Given the description of an element on the screen output the (x, y) to click on. 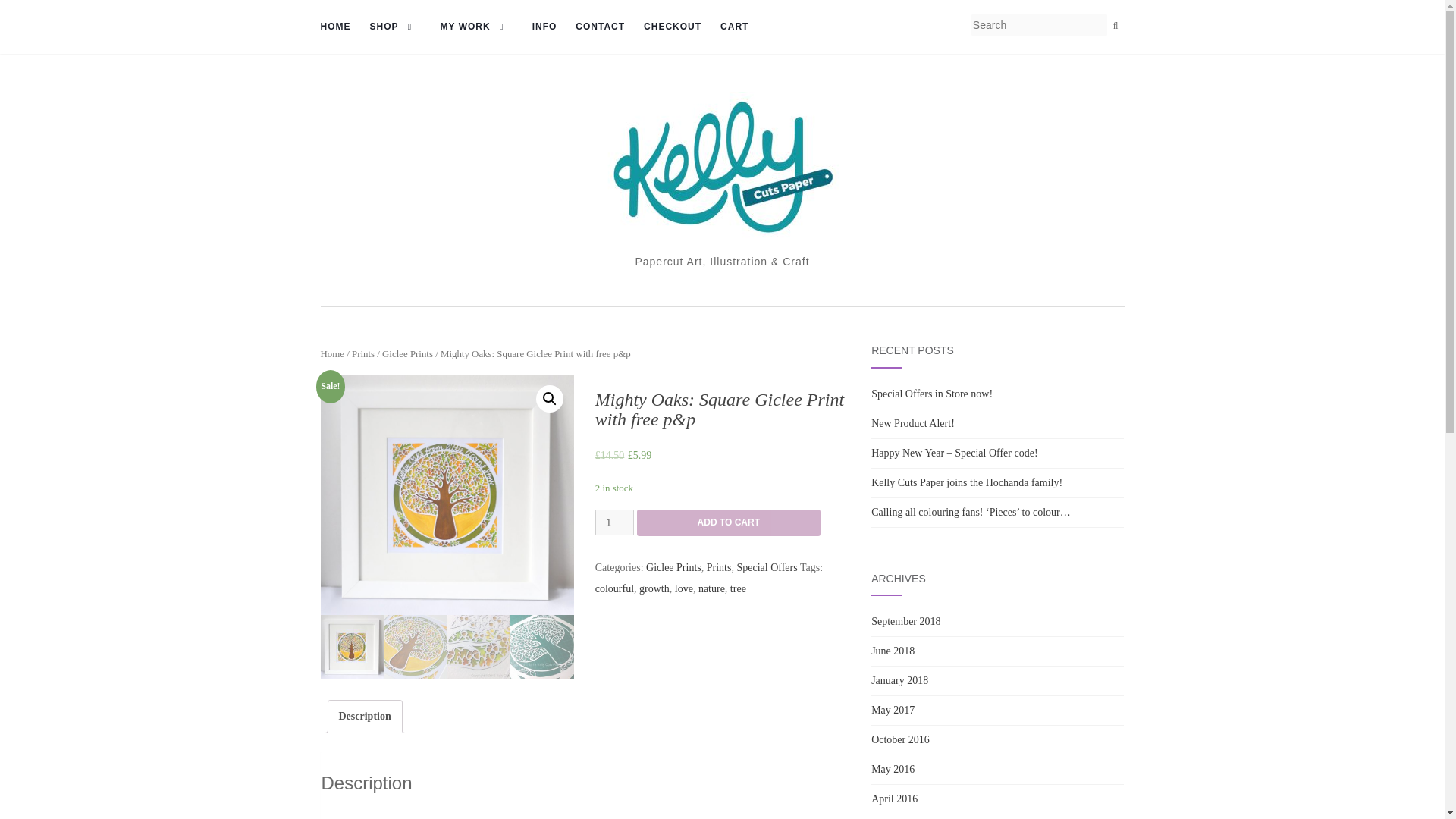
Shop (395, 27)
SHOP (395, 27)
Prints (363, 353)
1 (614, 522)
CONTACT (599, 27)
CHECKOUT (672, 27)
Giclee Prints (406, 353)
MY WORK (477, 27)
Home (331, 353)
